Given the description of an element on the screen output the (x, y) to click on. 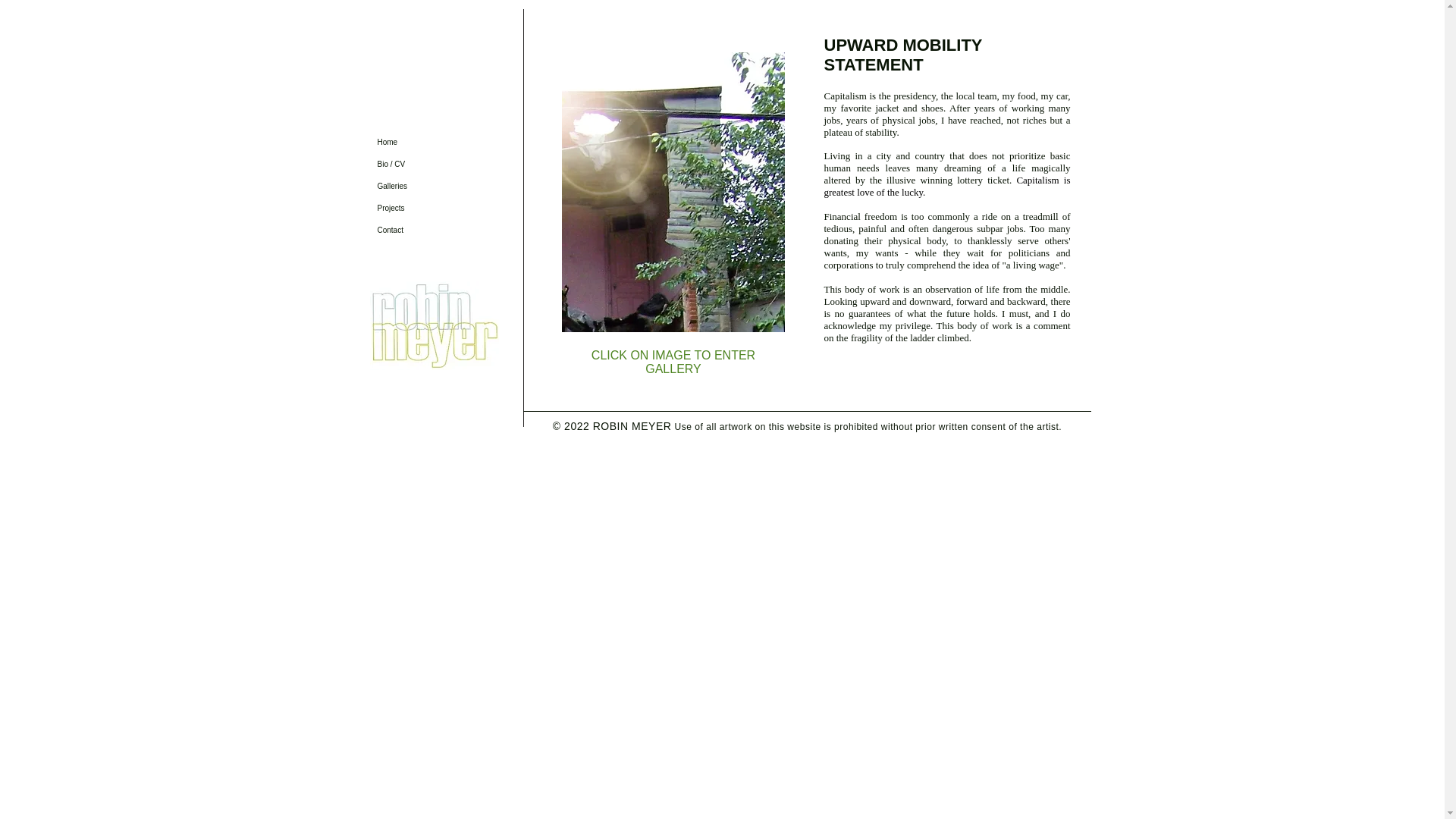
Projects (423, 208)
Galleries (423, 186)
Contact (423, 229)
Home (423, 142)
